Given the description of an element on the screen output the (x, y) to click on. 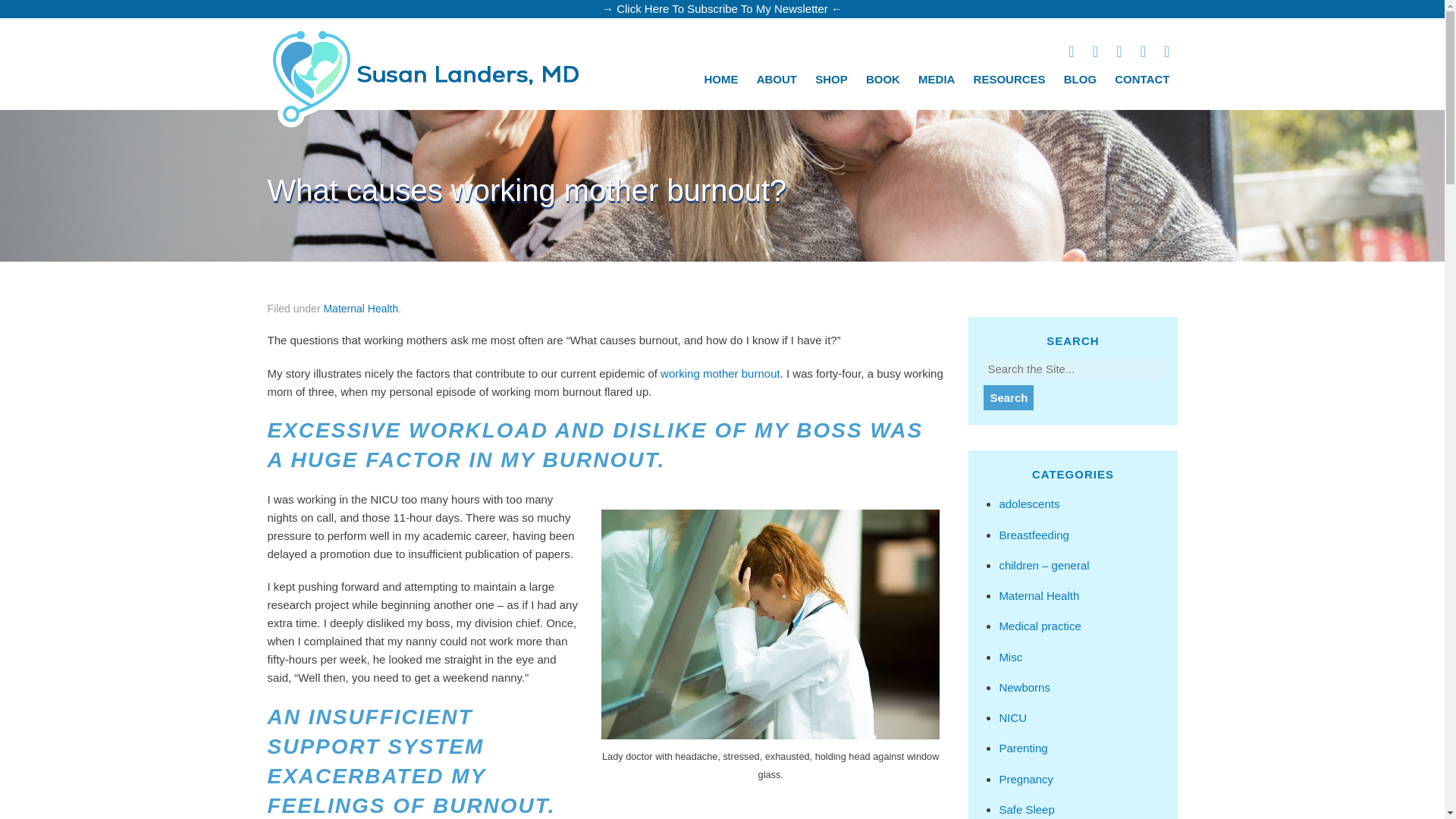
Search (1008, 397)
Parenting (1022, 748)
Newborns (1023, 686)
adolescents (1028, 503)
Search (1008, 397)
SHOP (832, 79)
RESOURCES (1009, 79)
Medical practice (1039, 625)
Maternal Health (1038, 594)
ABOUT (777, 79)
working mother burnout (720, 373)
Maternal Health (360, 308)
MEDIA (936, 79)
BOOK (883, 79)
NICU (1012, 717)
